Given the description of an element on the screen output the (x, y) to click on. 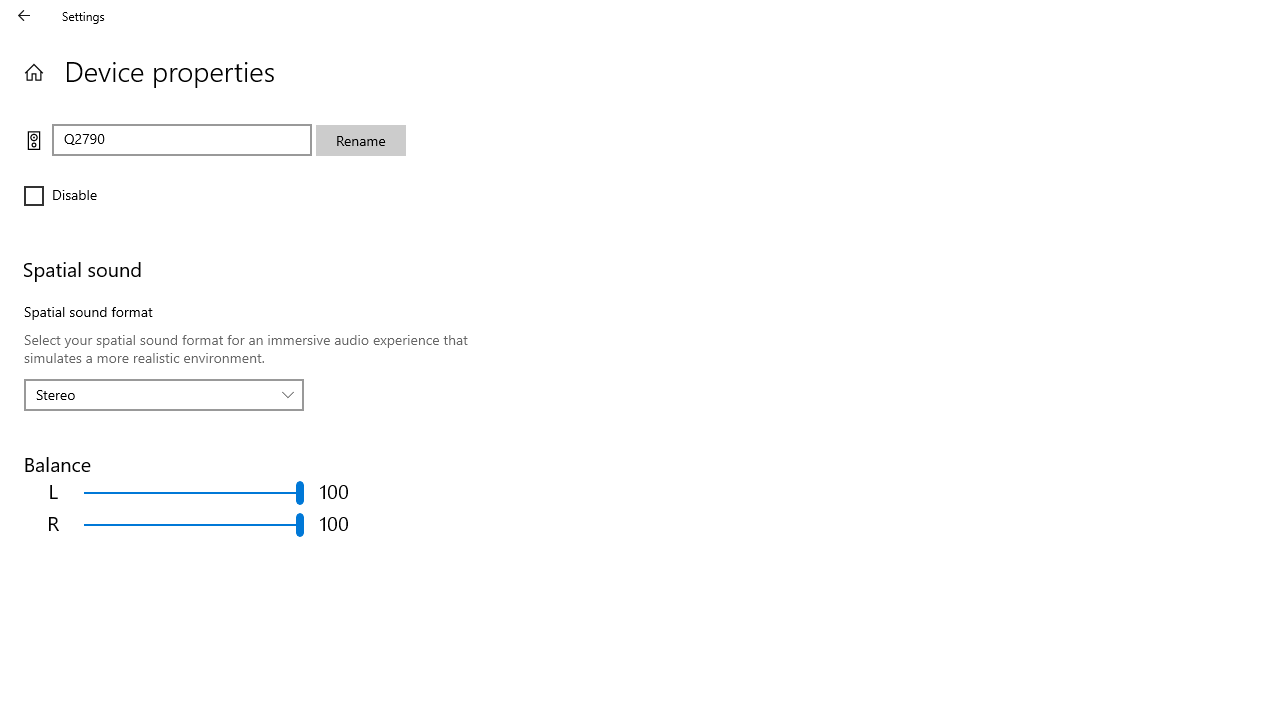
Home (33, 71)
Spatial sound format (164, 394)
Adjust right audio balance (194, 524)
Rename (360, 140)
Stereo (153, 394)
Back (24, 15)
Text box to change device name (182, 139)
Disable (83, 195)
Adjust left audio balance (194, 492)
